Given the description of an element on the screen output the (x, y) to click on. 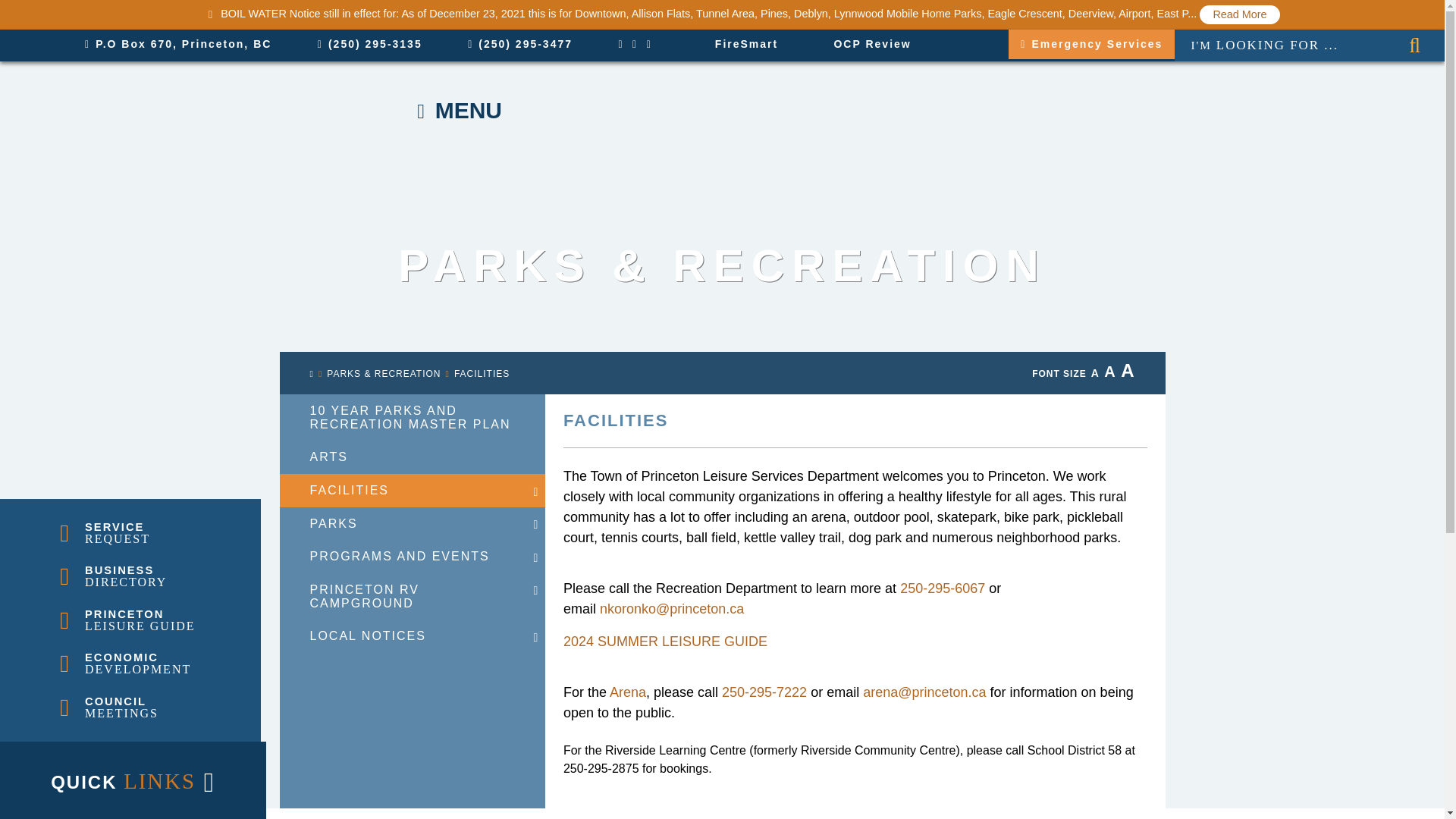
P.O Box 670, Princeton, BC (177, 43)
Fax (519, 43)
Emergency Services (1091, 43)
Google Map (177, 43)
FireSmart (739, 43)
Town of Princeton (187, 111)
Alert Message- REMINDER: Boil Water Notice in EFFECT  (1239, 13)
Phone (369, 43)
OCP Review (864, 43)
MENU (476, 110)
Read More (1239, 13)
Emergency Services (1091, 43)
